Given the description of an element on the screen output the (x, y) to click on. 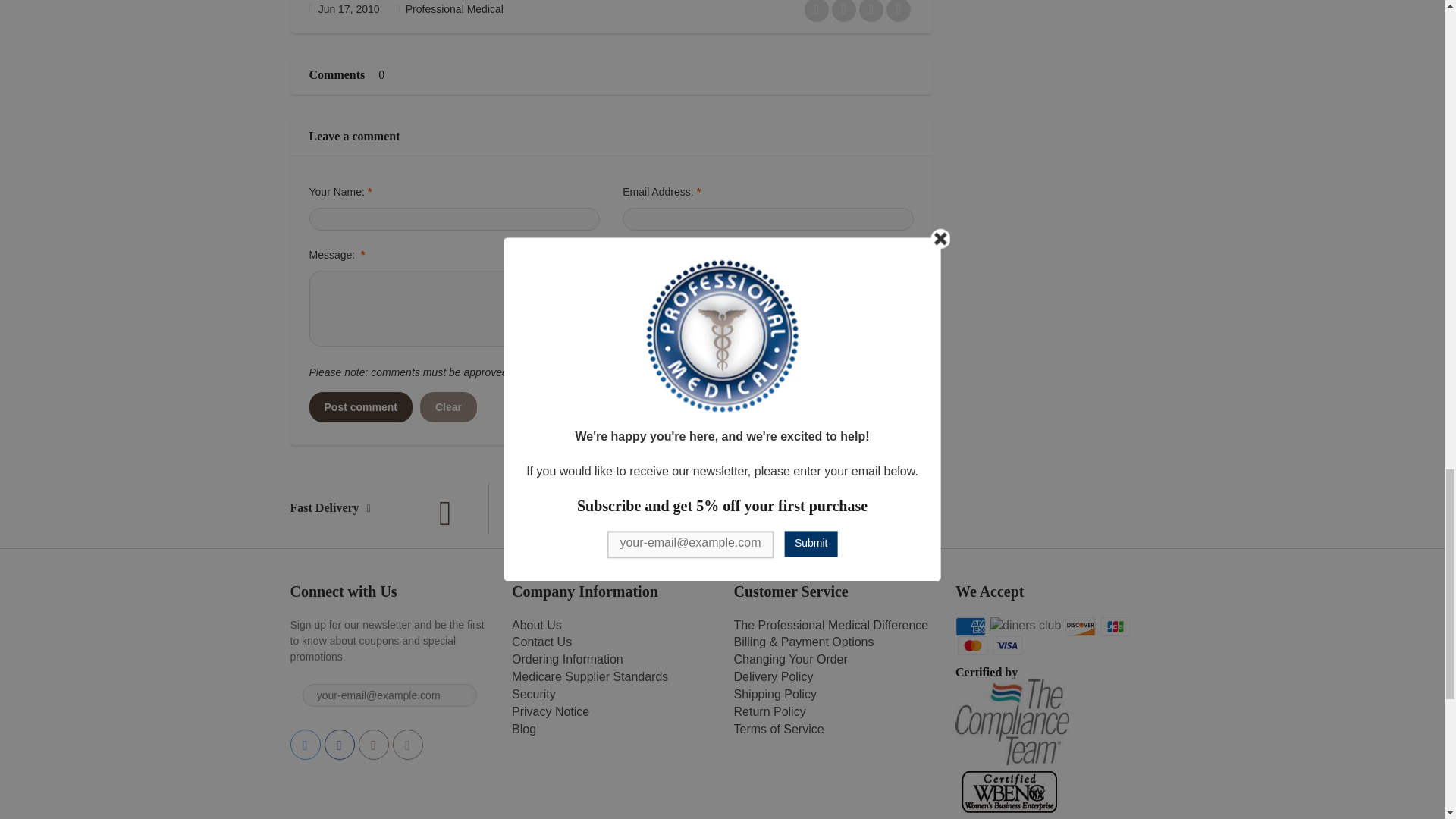
Post comment (360, 407)
Clear (448, 407)
